Given the description of an element on the screen output the (x, y) to click on. 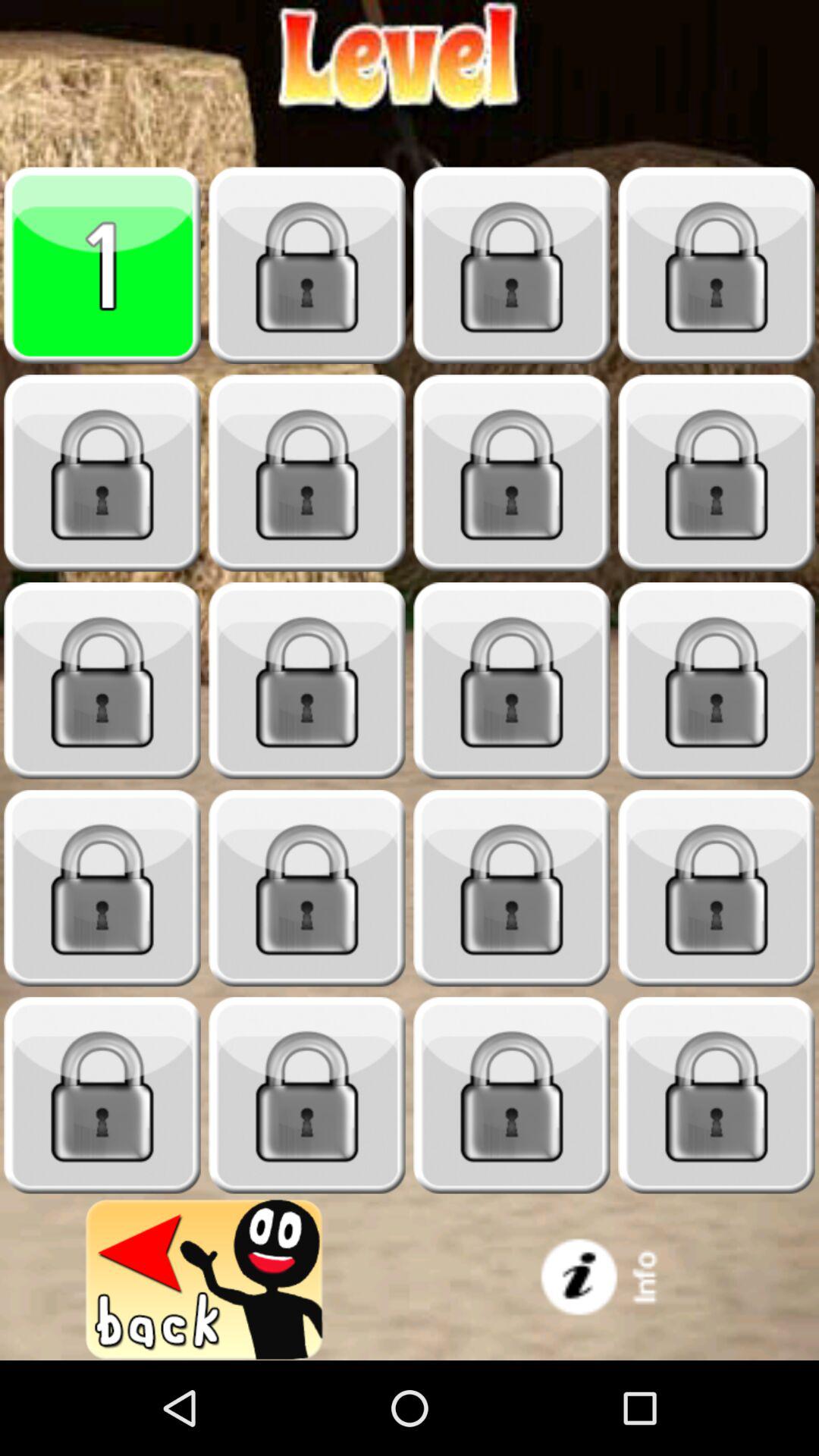
level blocked (716, 1094)
